Given the description of an element on the screen output the (x, y) to click on. 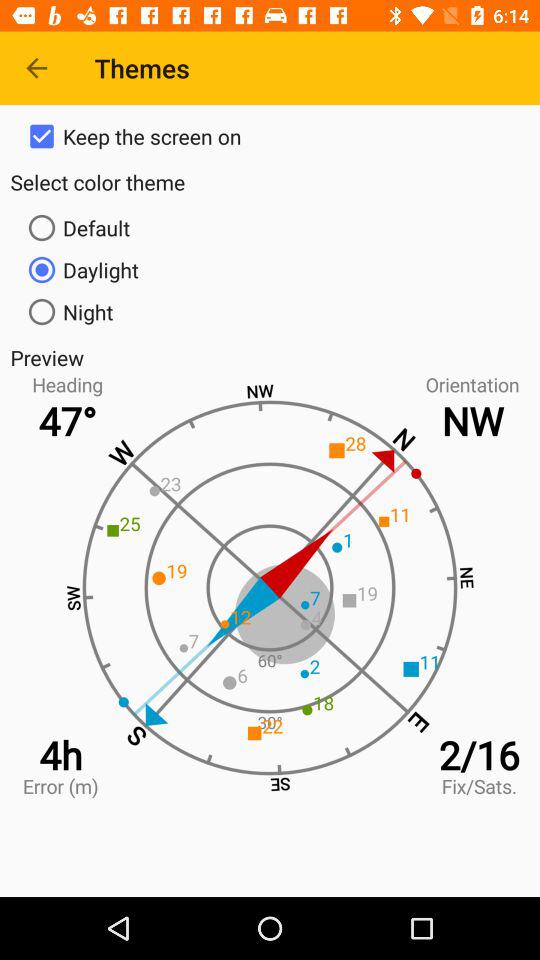
turn on the keep the screen icon (270, 136)
